Given the description of an element on the screen output the (x, y) to click on. 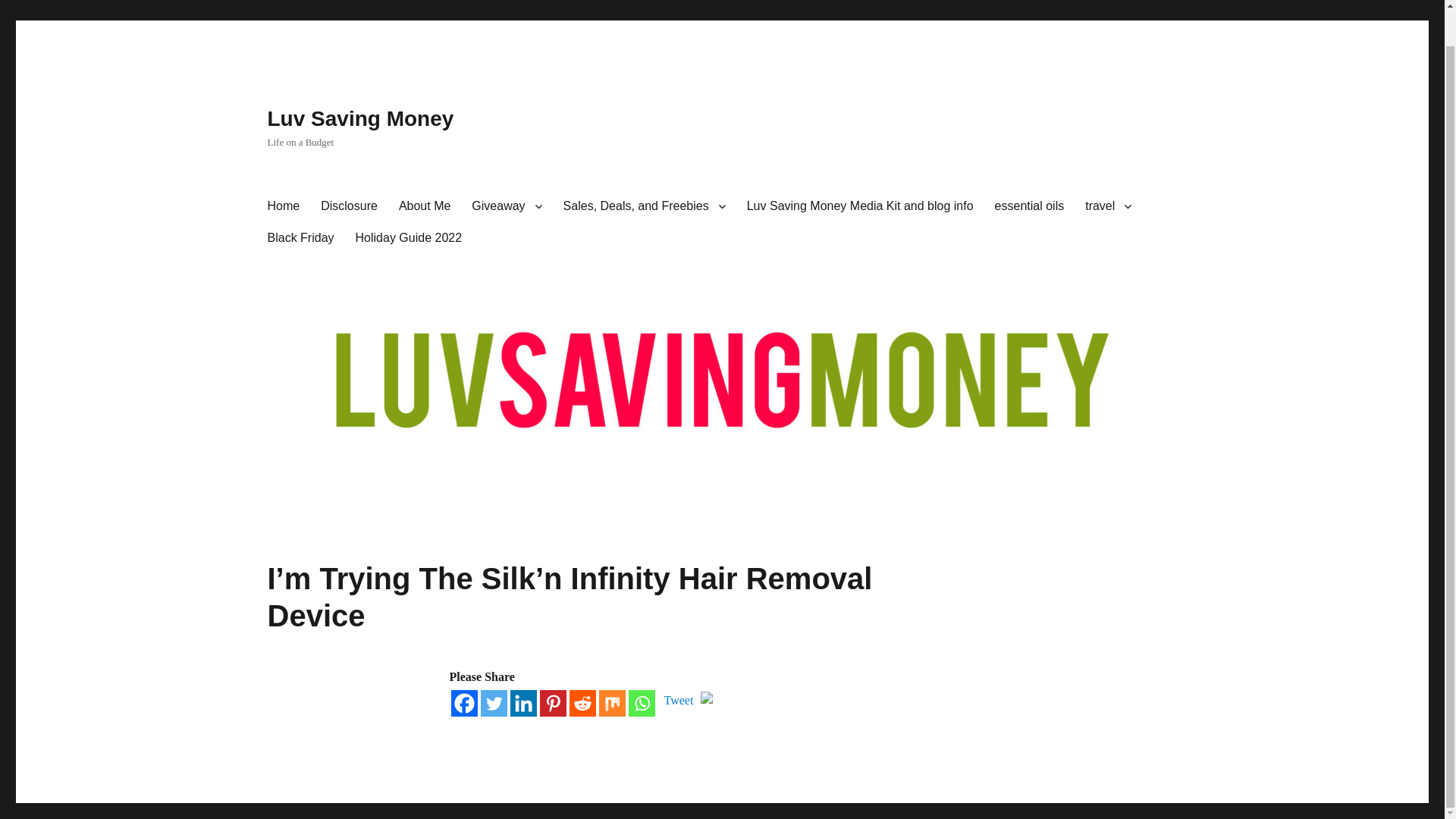
Mix (612, 703)
Holiday Guide 2022 (409, 237)
About Me (424, 205)
Tweet (678, 700)
Giveaway (506, 205)
Luv Saving Money Media Kit and blog info (860, 205)
essential oils (1029, 205)
Linkedin (522, 703)
Whatsapp (640, 703)
Black Friday (299, 237)
